Given the description of an element on the screen output the (x, y) to click on. 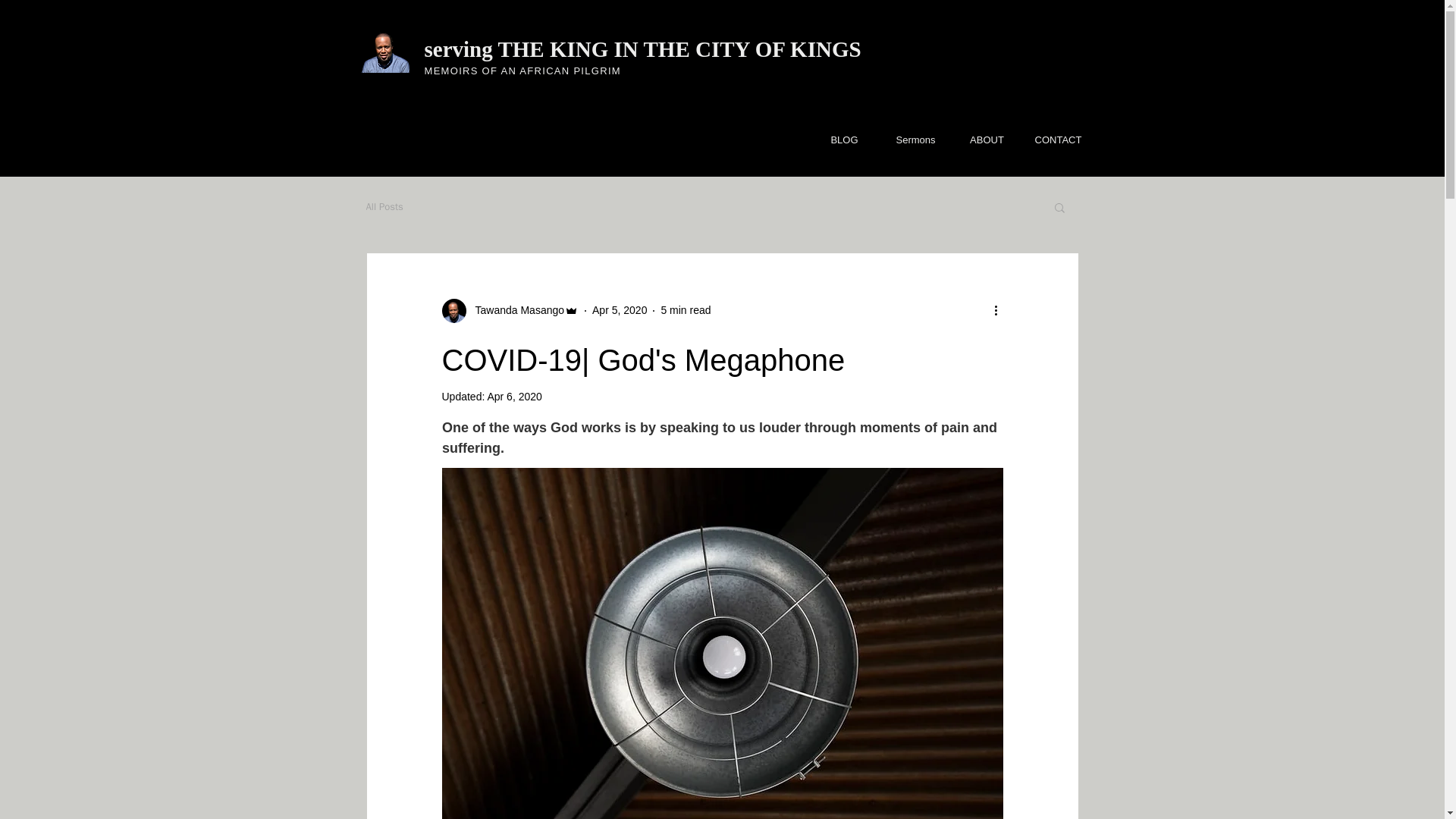
Tawanda Masango  (514, 310)
Apr 6, 2020 (513, 396)
CONTACT (1057, 139)
serving THE KING IN THE CITY OF KINGS   (648, 48)
Apr 5, 2020 (619, 309)
ABOUT (986, 139)
Sermons (914, 139)
5 min read (685, 309)
MEMOIRS OF AN AFRICAN PILGRIM (523, 70)
All Posts (384, 206)
BLOG (843, 139)
